Given the description of an element on the screen output the (x, y) to click on. 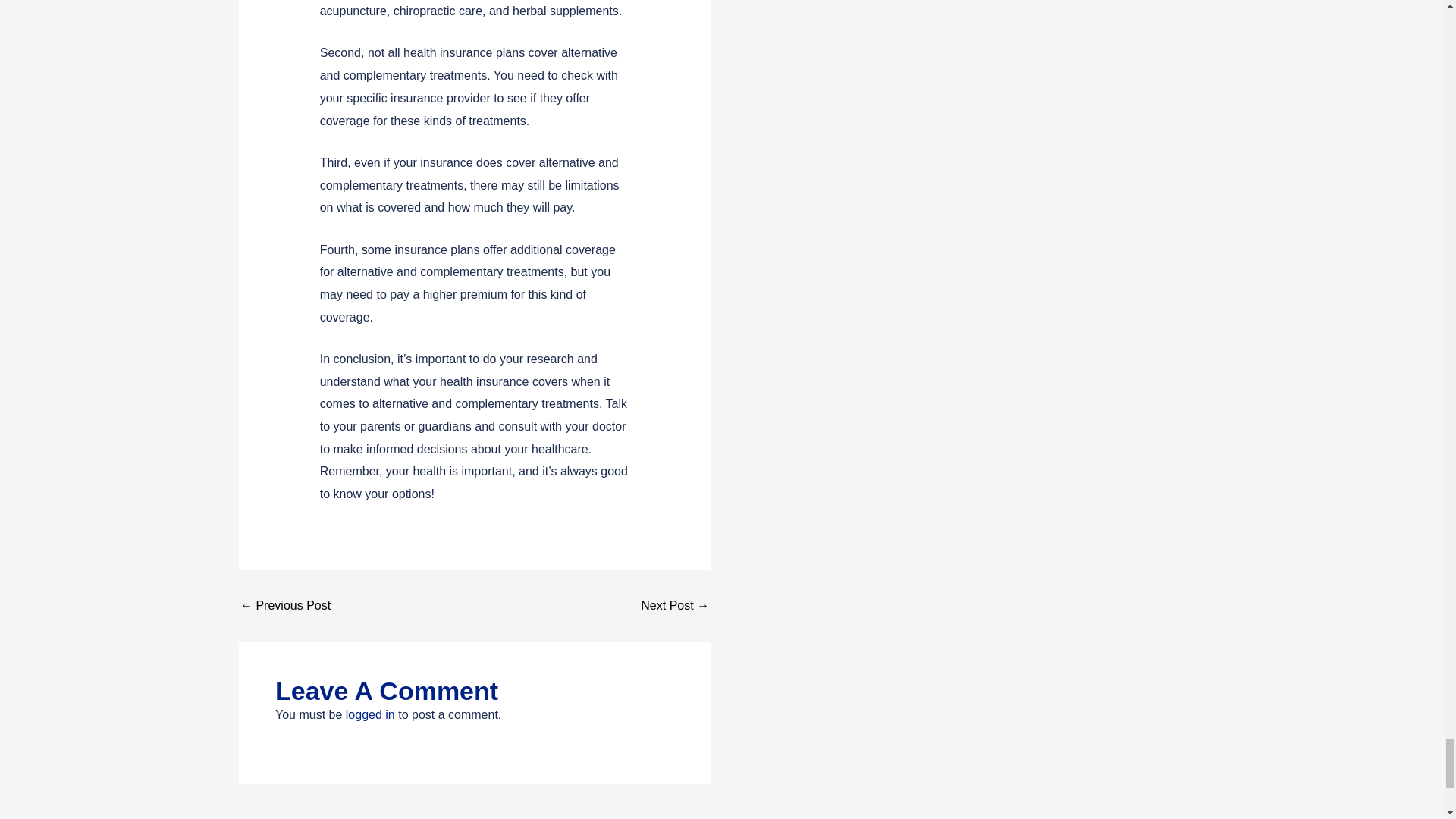
logged in (370, 714)
Does Dental Insurance Cover Wisdom Tooth Extraction? (674, 605)
